Given the description of an element on the screen output the (x, y) to click on. 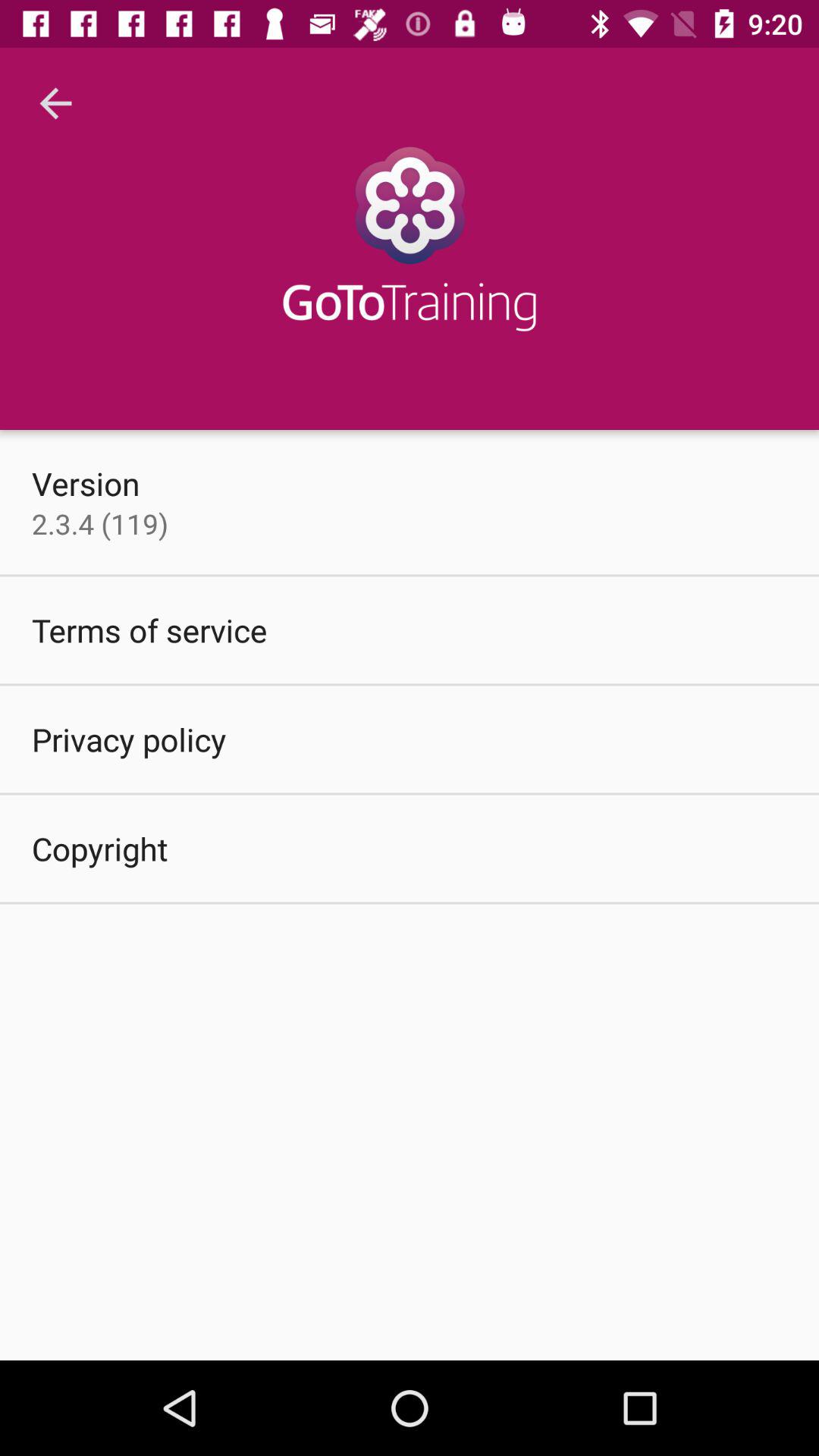
swipe until the copyright item (99, 848)
